Given the description of an element on the screen output the (x, y) to click on. 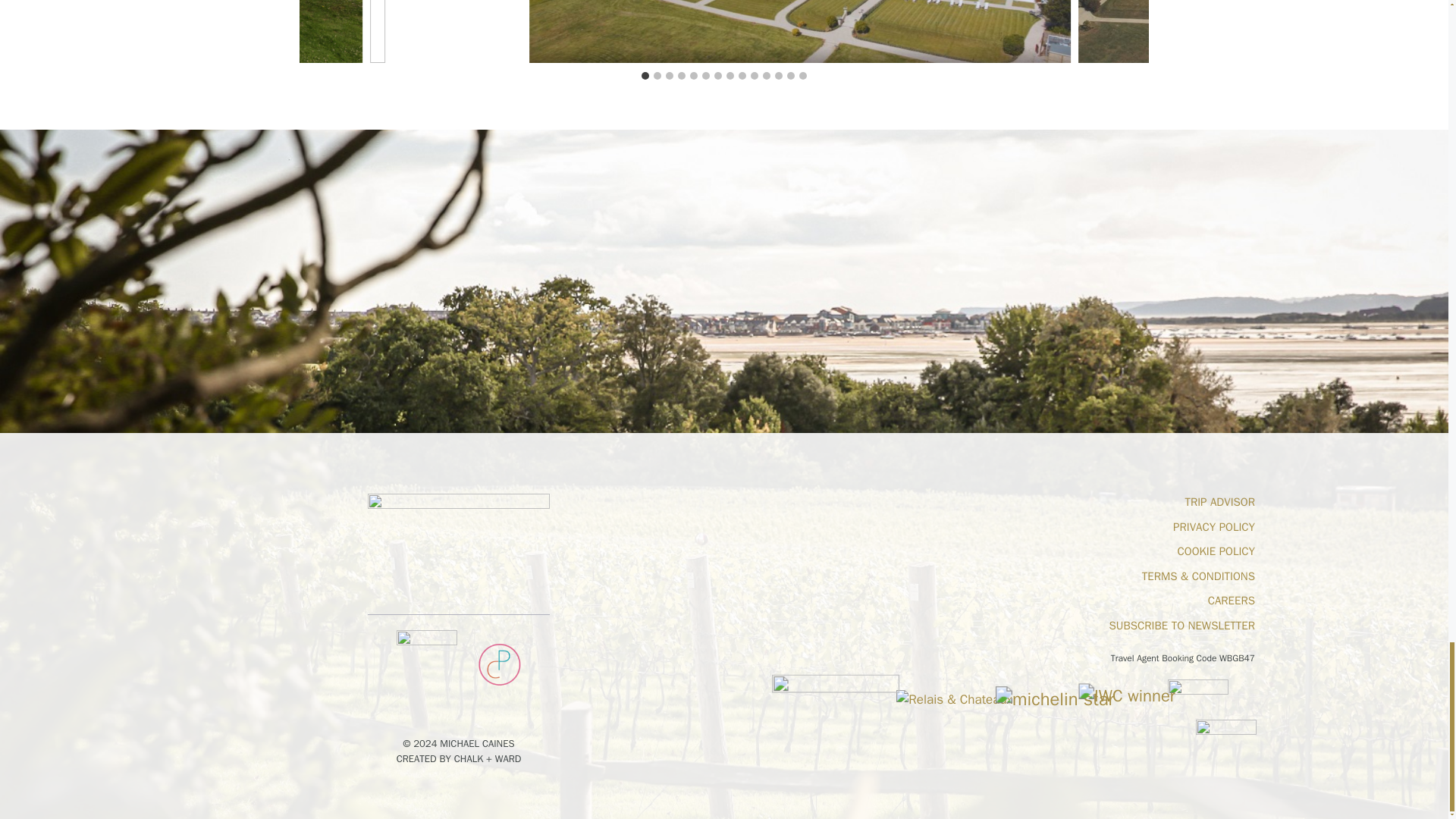
michelin star (1037, 695)
5 Star Town House Hotel Inspectors Choice Landscape 2016 (1197, 694)
relais-et-chateaux (953, 700)
Untitled-design-5 (459, 554)
IWC winner (1115, 692)
